Given the description of an element on the screen output the (x, y) to click on. 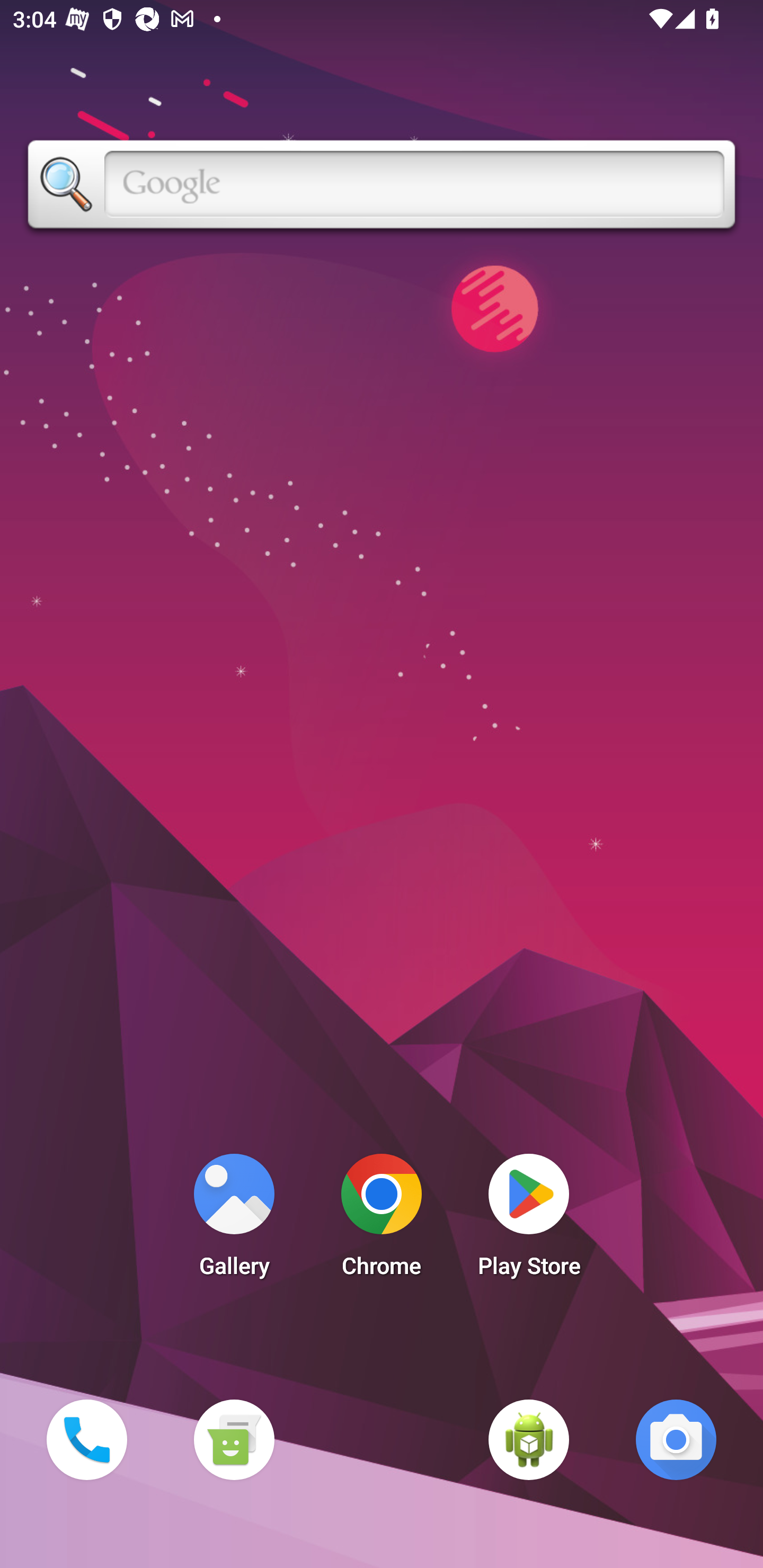
Gallery (233, 1220)
Chrome (381, 1220)
Play Store (528, 1220)
Phone (86, 1439)
Messaging (233, 1439)
WebView Browser Tester (528, 1439)
Camera (676, 1439)
